Given the description of an element on the screen output the (x, y) to click on. 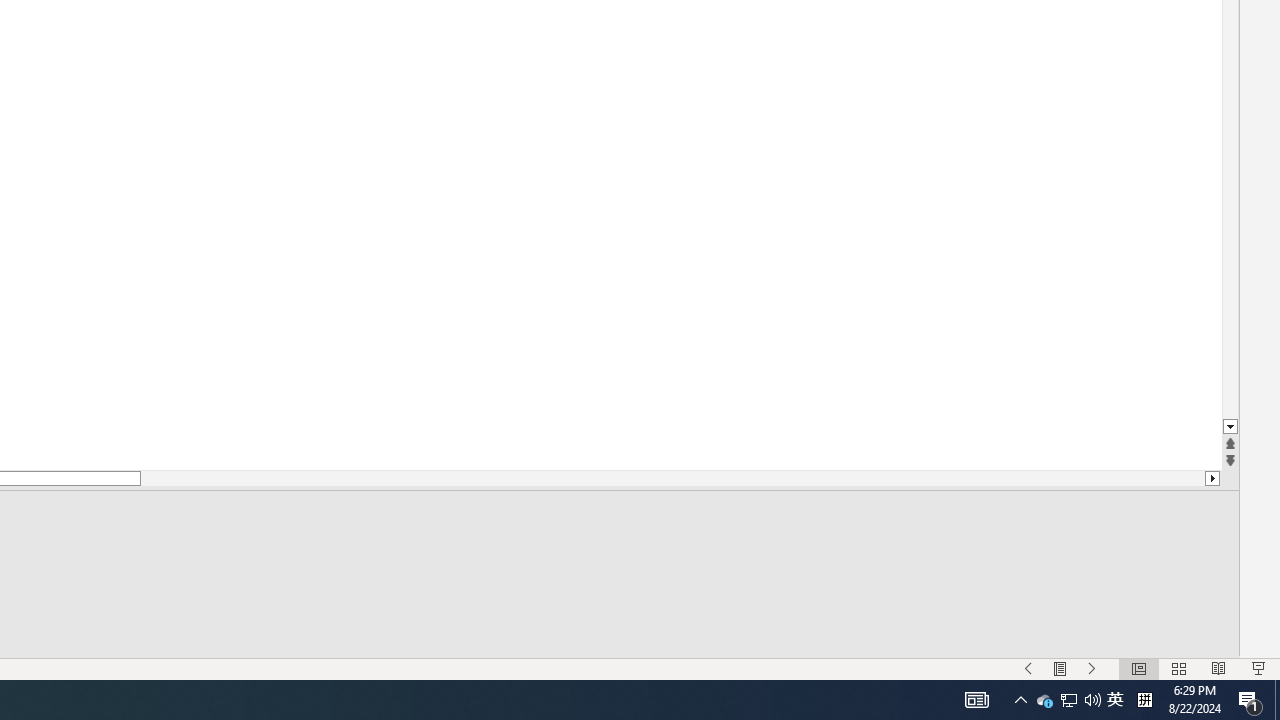
Slide Show Next On (1092, 668)
Menu On (1060, 668)
Slide Show Previous On (1028, 668)
